Given the description of an element on the screen output the (x, y) to click on. 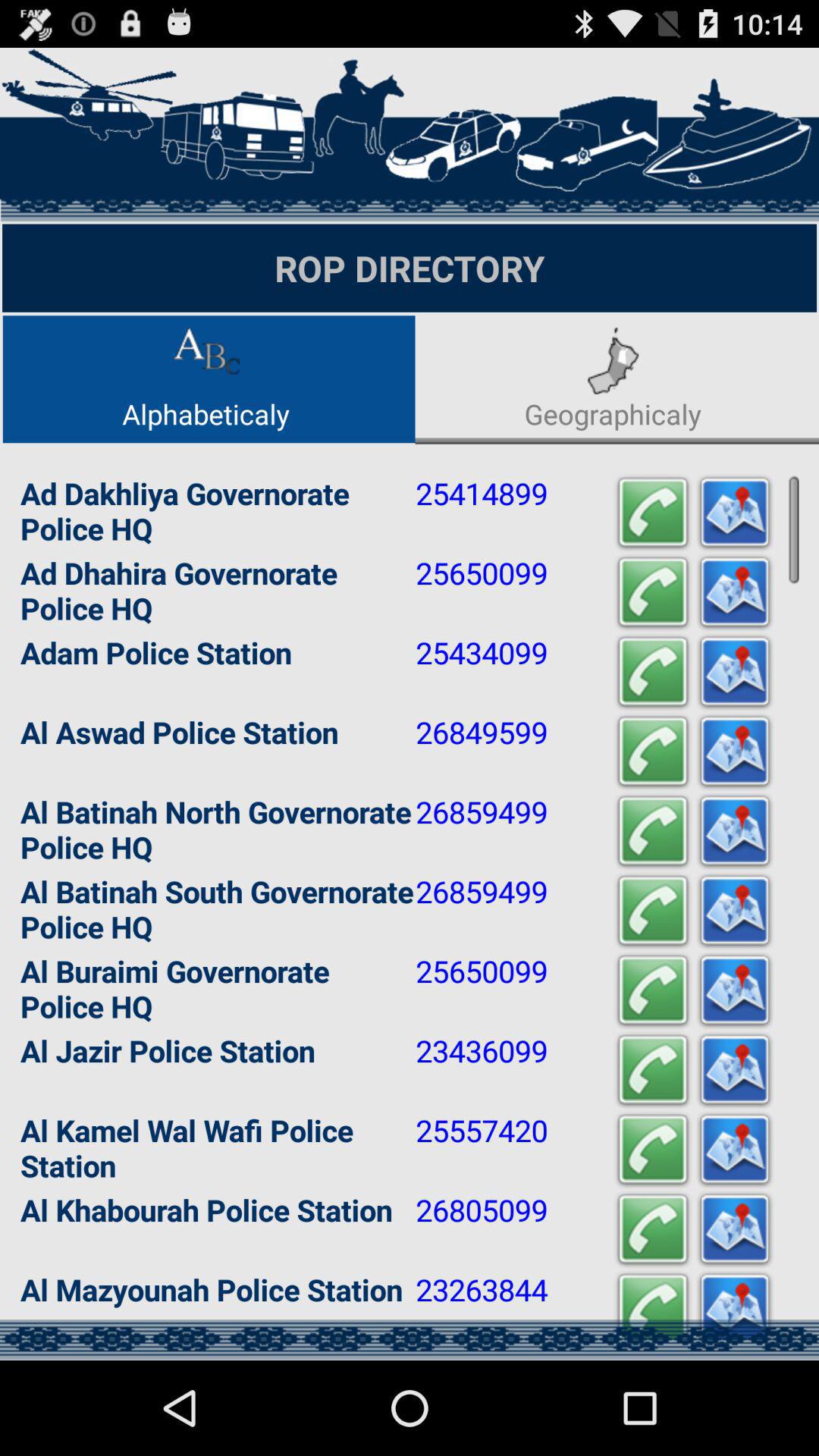
make a call (652, 1149)
